Given the description of an element on the screen output the (x, y) to click on. 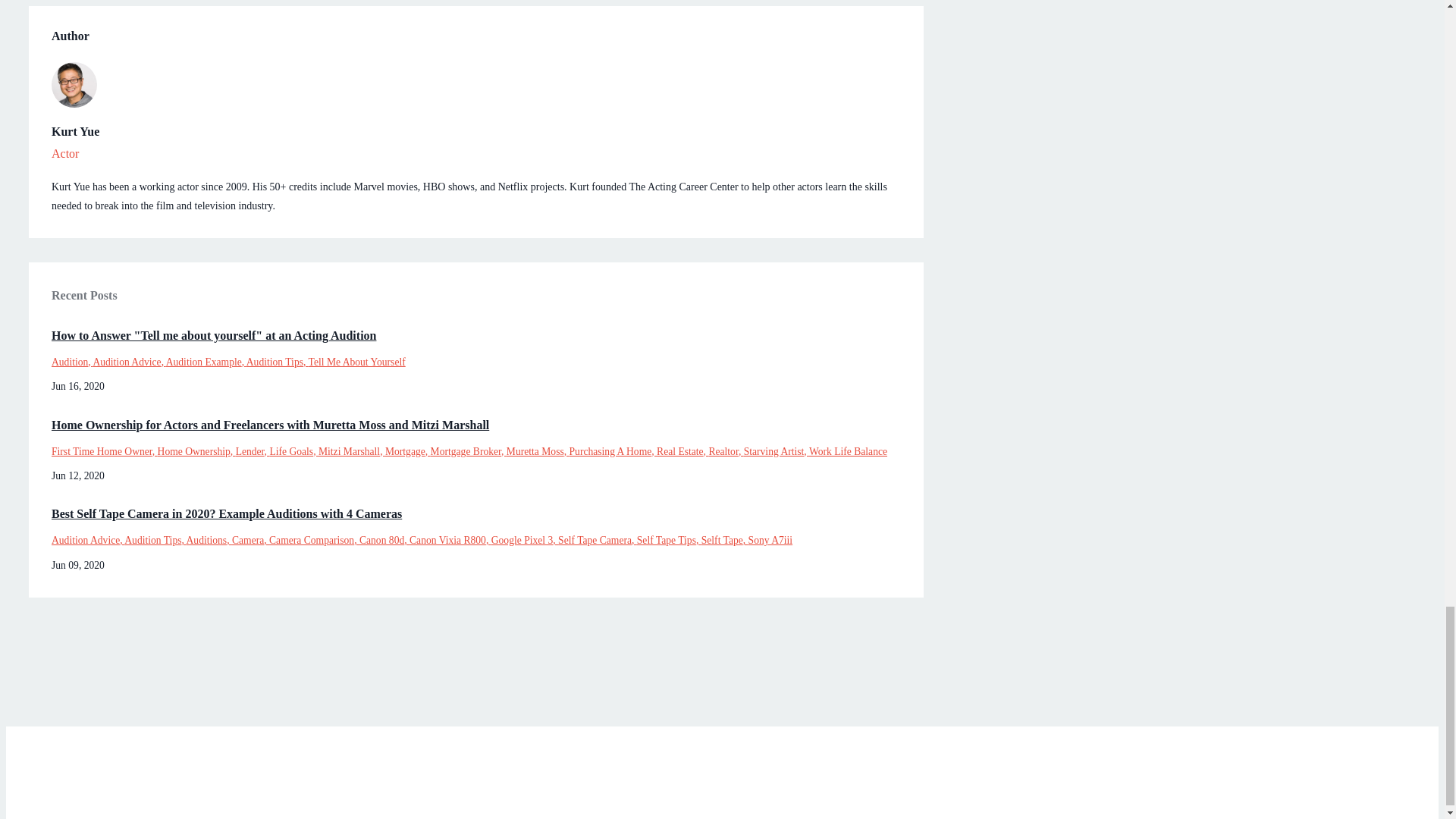
Muretta Moss (537, 451)
Home Ownership (196, 451)
Tell Me About Yourself (357, 361)
How to Answer "Tell me about yourself" at an Acting Audition (475, 336)
Lender (252, 451)
Life Goals (293, 451)
First Time Home Owner (103, 451)
Mortgage (407, 451)
Audition Advice (129, 361)
Purchasing A Home (613, 451)
Audition Example (205, 361)
Mortgage Broker (468, 451)
Mitzi Marshall (351, 451)
Audition Tips (277, 361)
